Given the description of an element on the screen output the (x, y) to click on. 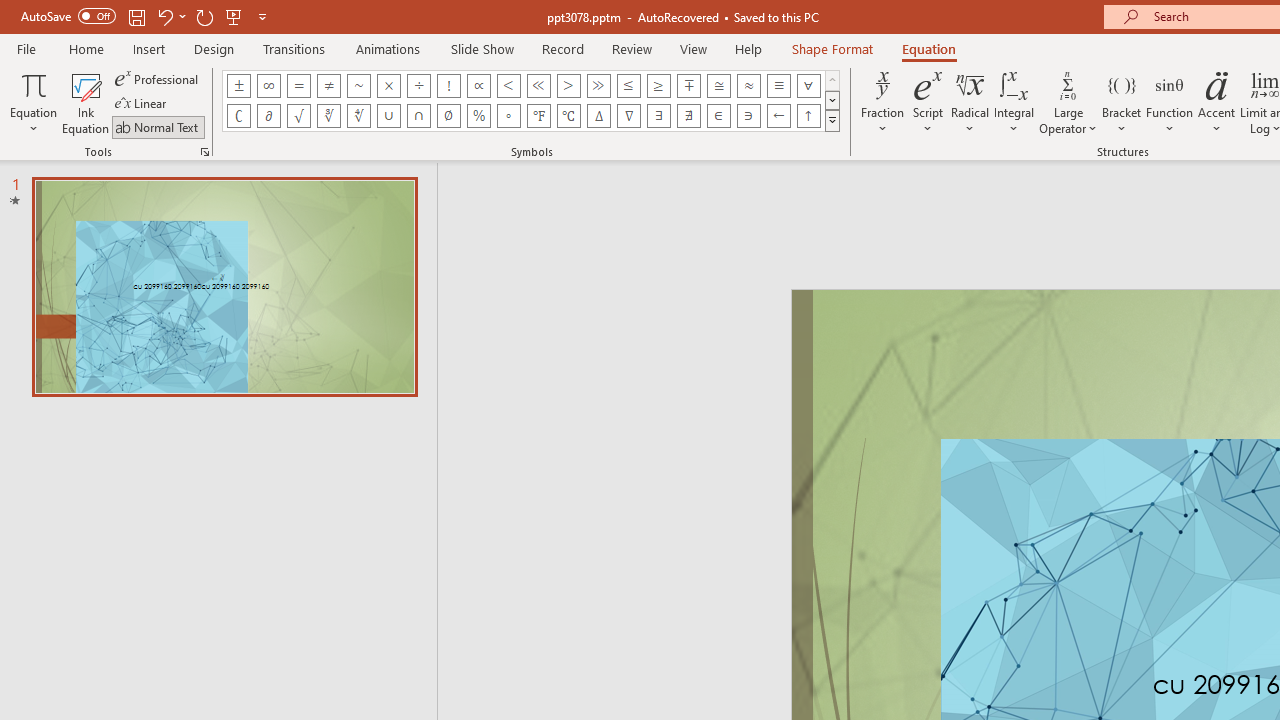
Script (927, 102)
Equation Symbol Left Arrow (778, 115)
Equation Symbol There Exists (658, 115)
Function (1169, 102)
Equation Symbol Multiplication Sign (388, 85)
Equation Symbol Equal (298, 85)
Equation Symbol Percentage (478, 115)
Equation Symbol Almost Equal To (Asymptotic To) (748, 85)
Equation Symbol Approximately (358, 85)
Equation Symbol Much Greater Than (598, 85)
Equation Symbol Nabla (628, 115)
Equation Symbol Proportional To (478, 85)
